Given the description of an element on the screen output the (x, y) to click on. 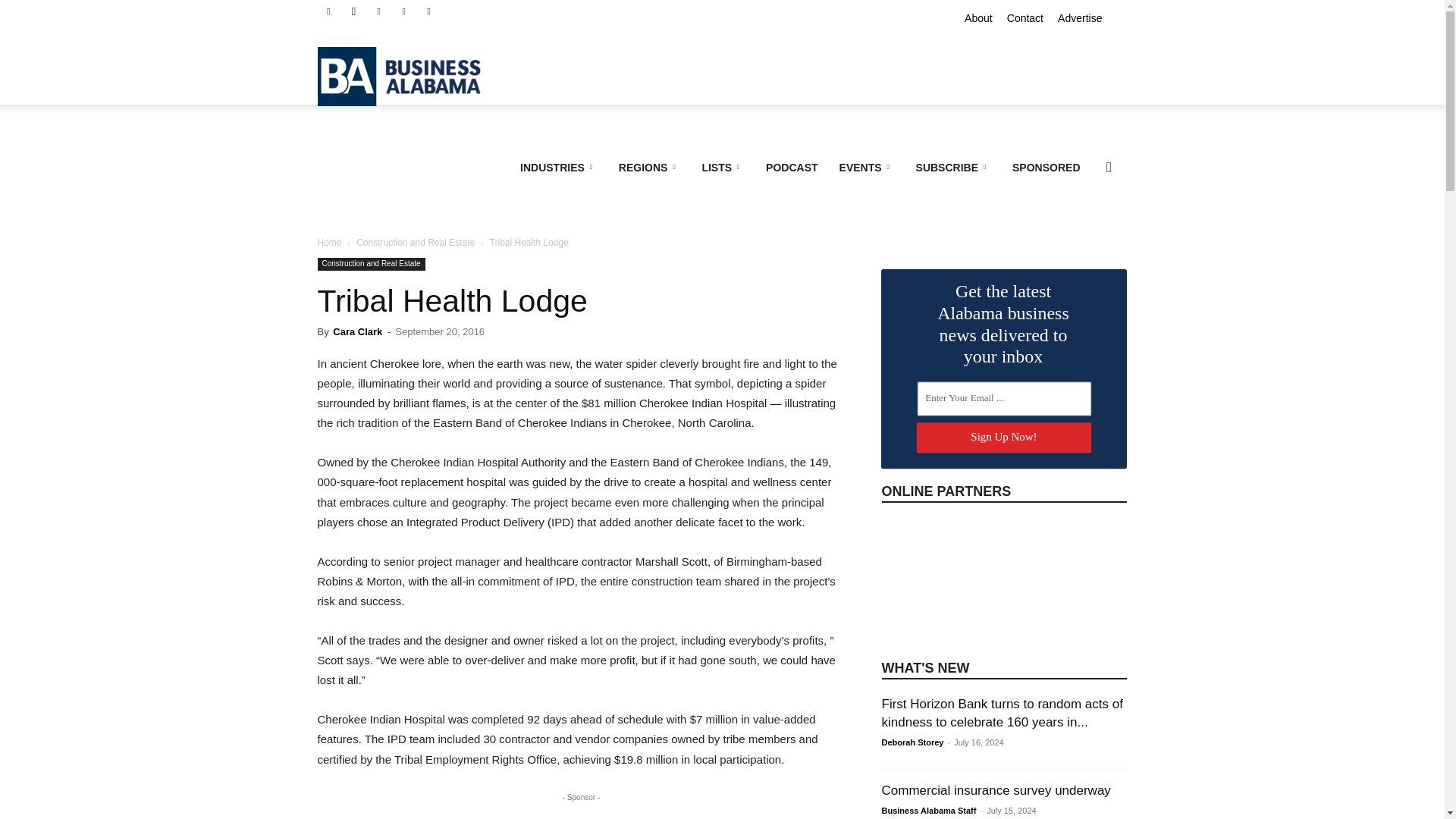
Linkedin (379, 10)
View all posts in Construction and Real Estate (415, 242)
Facebook (328, 10)
Instagram (353, 10)
Spotify (403, 10)
Twitter (429, 10)
Business Alabama Magazine (406, 76)
